Given the description of an element on the screen output the (x, y) to click on. 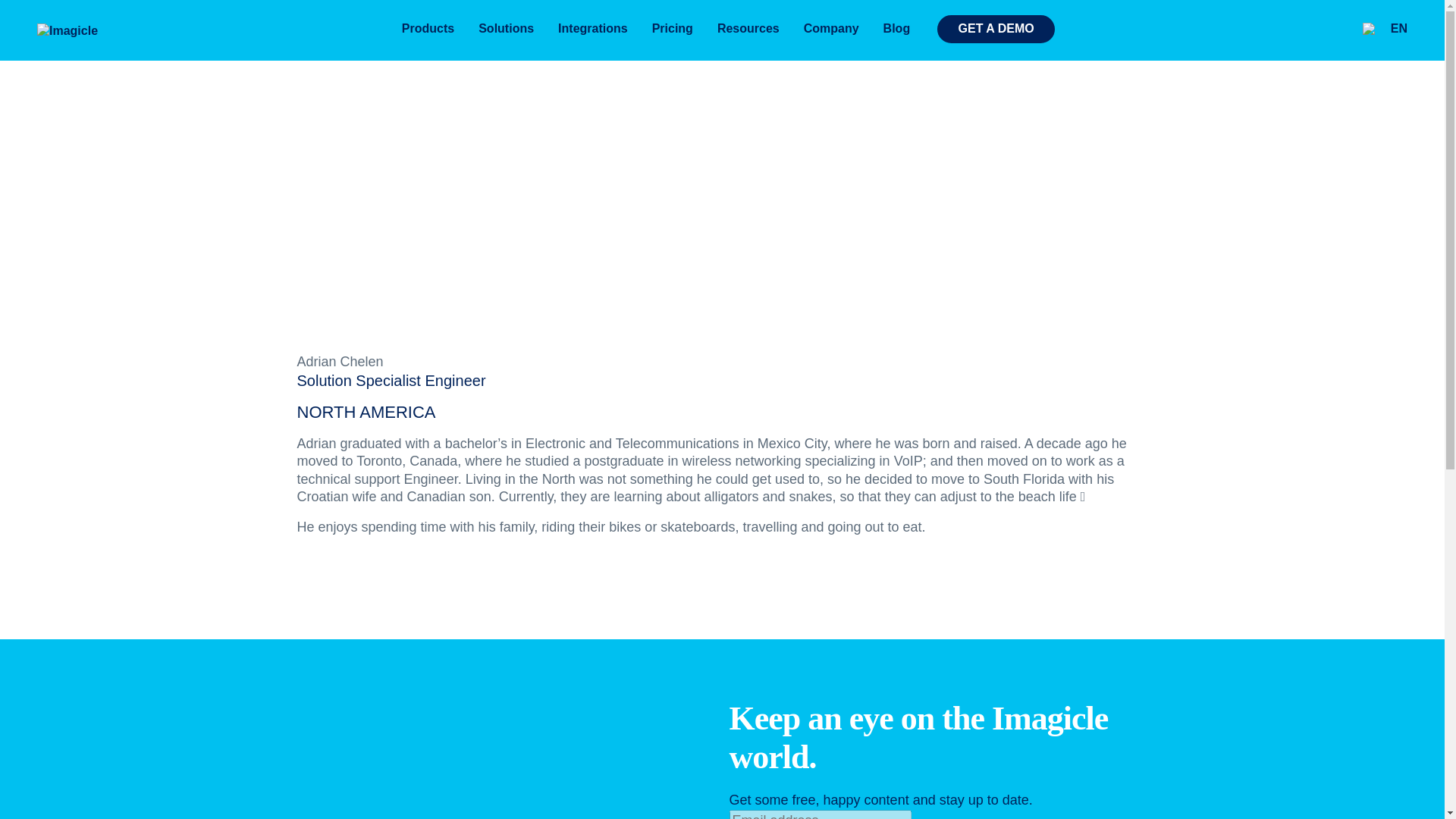
Integrations (593, 29)
Blog (896, 29)
GET A DEMO (995, 29)
Solutions (505, 29)
Company (831, 29)
Products (427, 29)
EN (1391, 28)
Resources (748, 29)
Pricing (672, 29)
